Given the description of an element on the screen output the (x, y) to click on. 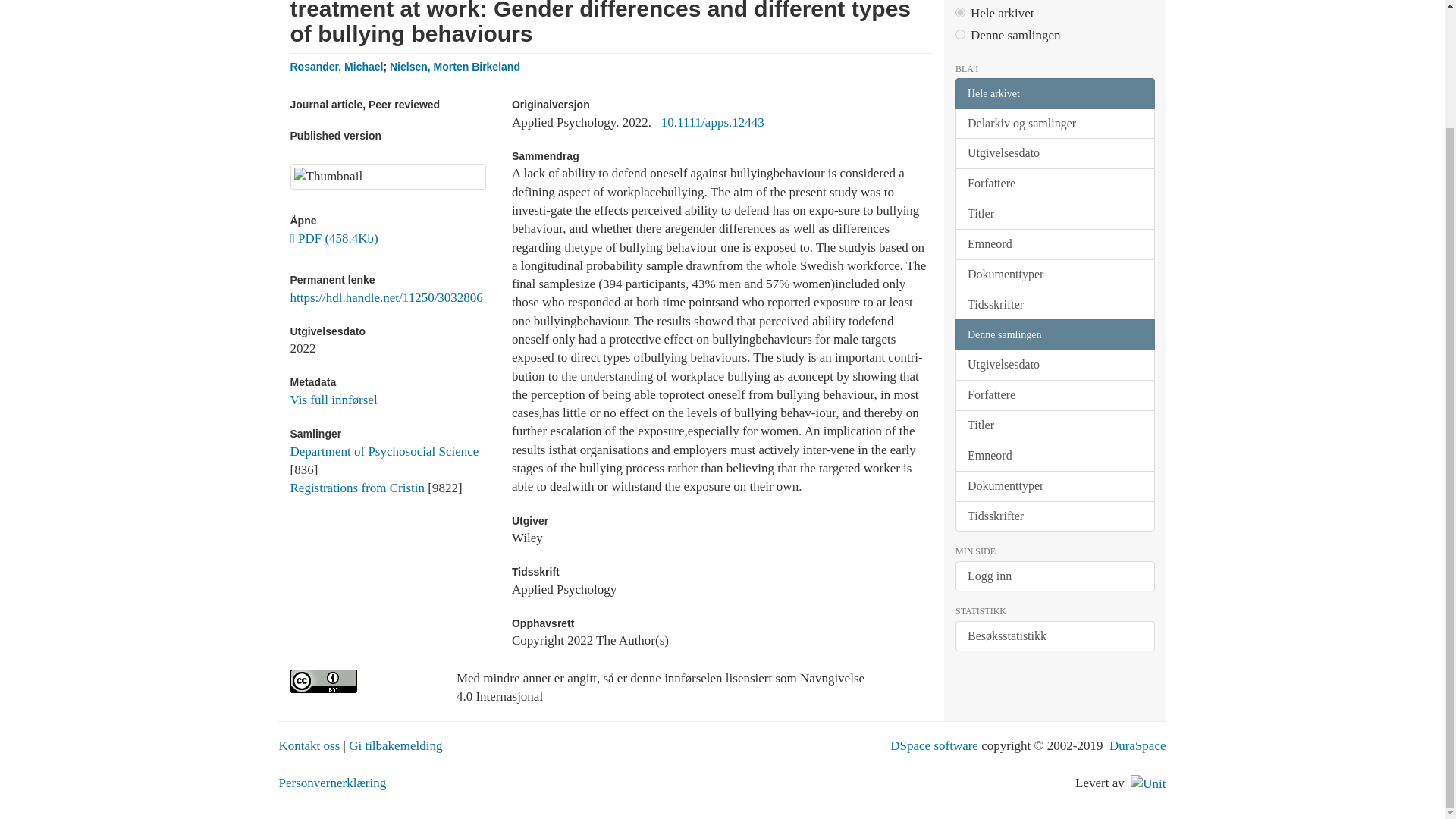
Forfattere (1054, 183)
Utgivelsesdato (1054, 153)
Navngivelse 4.0 Internasjonal (360, 680)
Registrations from Cristin (357, 487)
Department of Psychosocial Science (384, 451)
Unit (1148, 782)
Rosander, Michael (335, 66)
Hele arkivet (1054, 92)
Delarkiv og samlinger (1054, 123)
Nielsen, Morten Birkeland (454, 66)
